Given the description of an element on the screen output the (x, y) to click on. 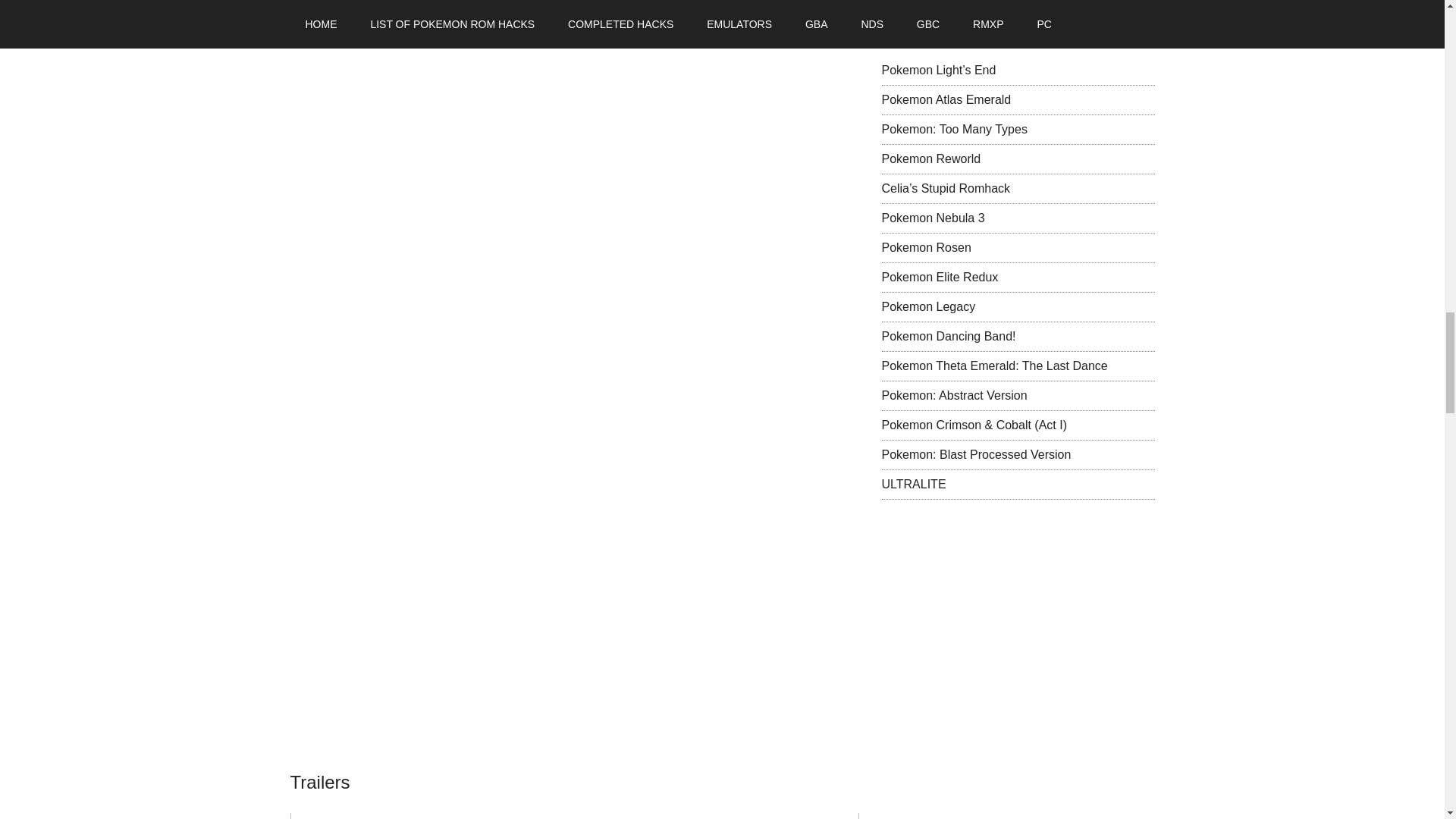
Pokemon Marigold Screenshot (386, 302)
Pokemon Marigold Screenshot (386, 7)
Pokemon Marigold Screenshot (386, 664)
Pokemon Marigold Screenshot (386, 122)
Pokemon Marigold Screenshot (386, 483)
